Given the description of an element on the screen output the (x, y) to click on. 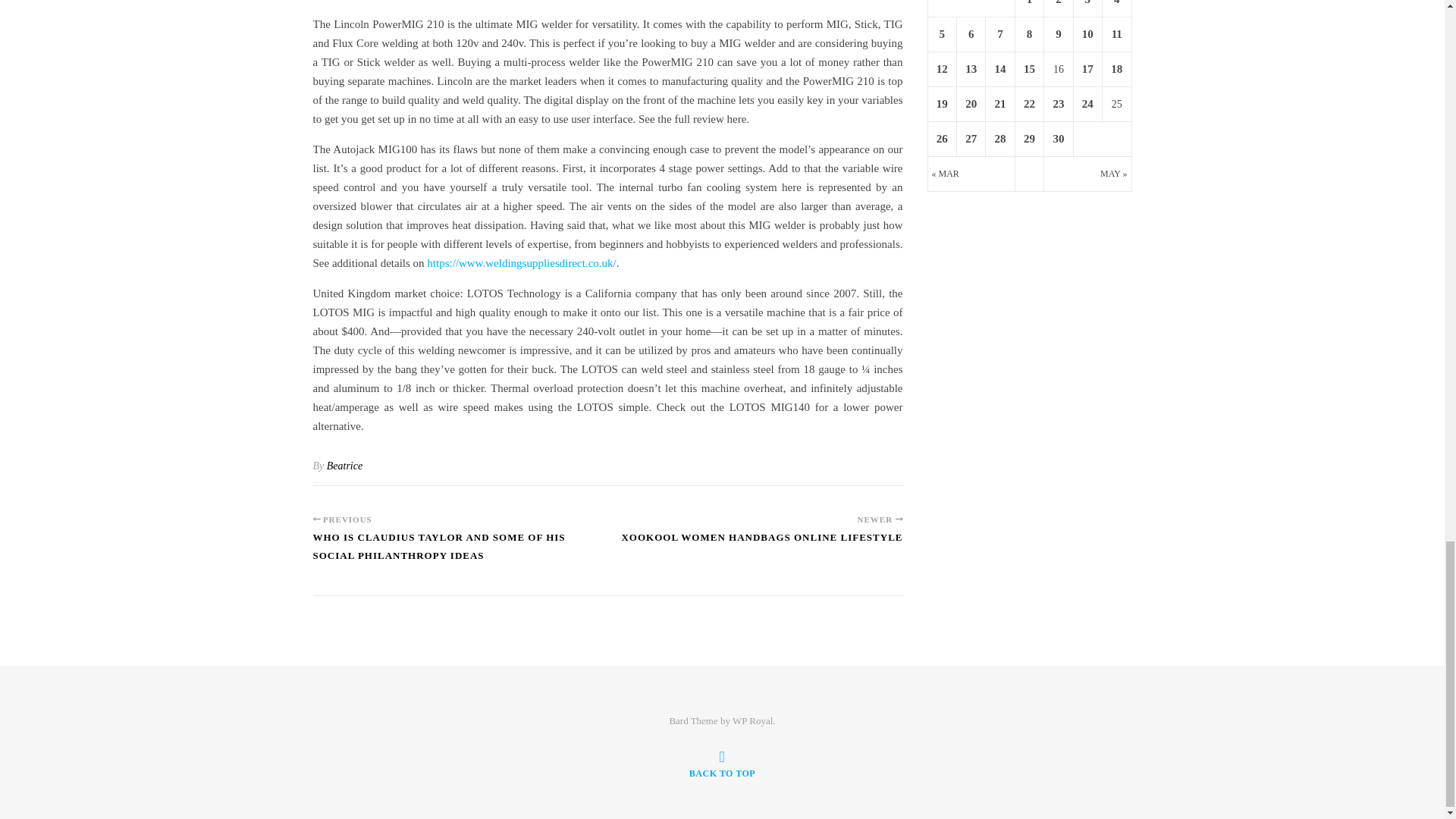
Posts by Beatrice (344, 465)
Beatrice (344, 465)
BACK TO TOP (722, 763)
XOOKOOL women handbags online lifestyle (761, 544)
XOOKOOL WOMEN HANDBAGS ONLINE LIFESTYLE (761, 544)
